Given the description of an element on the screen output the (x, y) to click on. 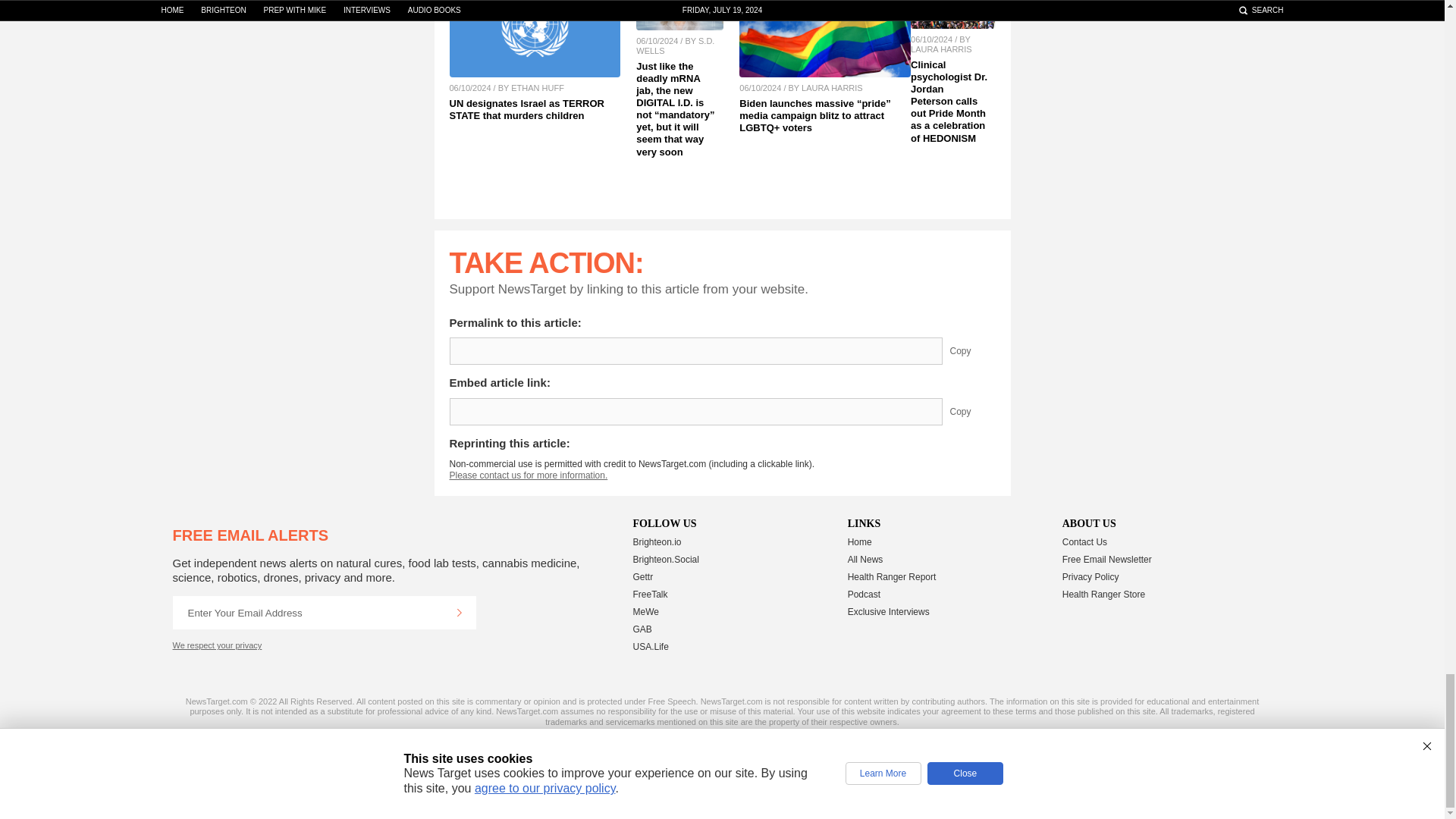
Continue (459, 612)
Copy Permalink (971, 350)
Copy Embed Link (971, 411)
